Given the description of an element on the screen output the (x, y) to click on. 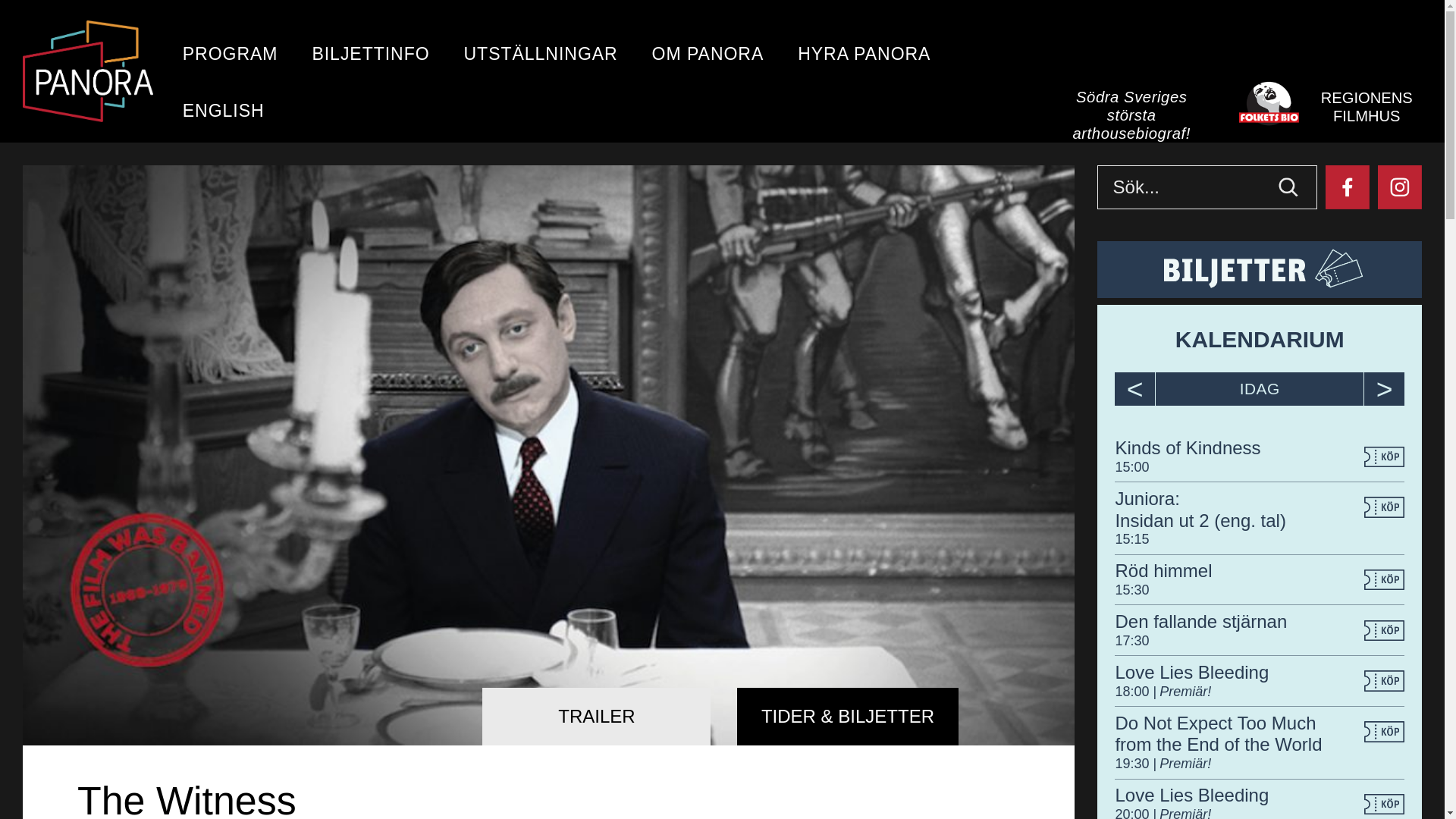
HYRA PANORA (863, 56)
BILJETTINFO (370, 56)
PROGRAM (230, 56)
